Given the description of an element on the screen output the (x, y) to click on. 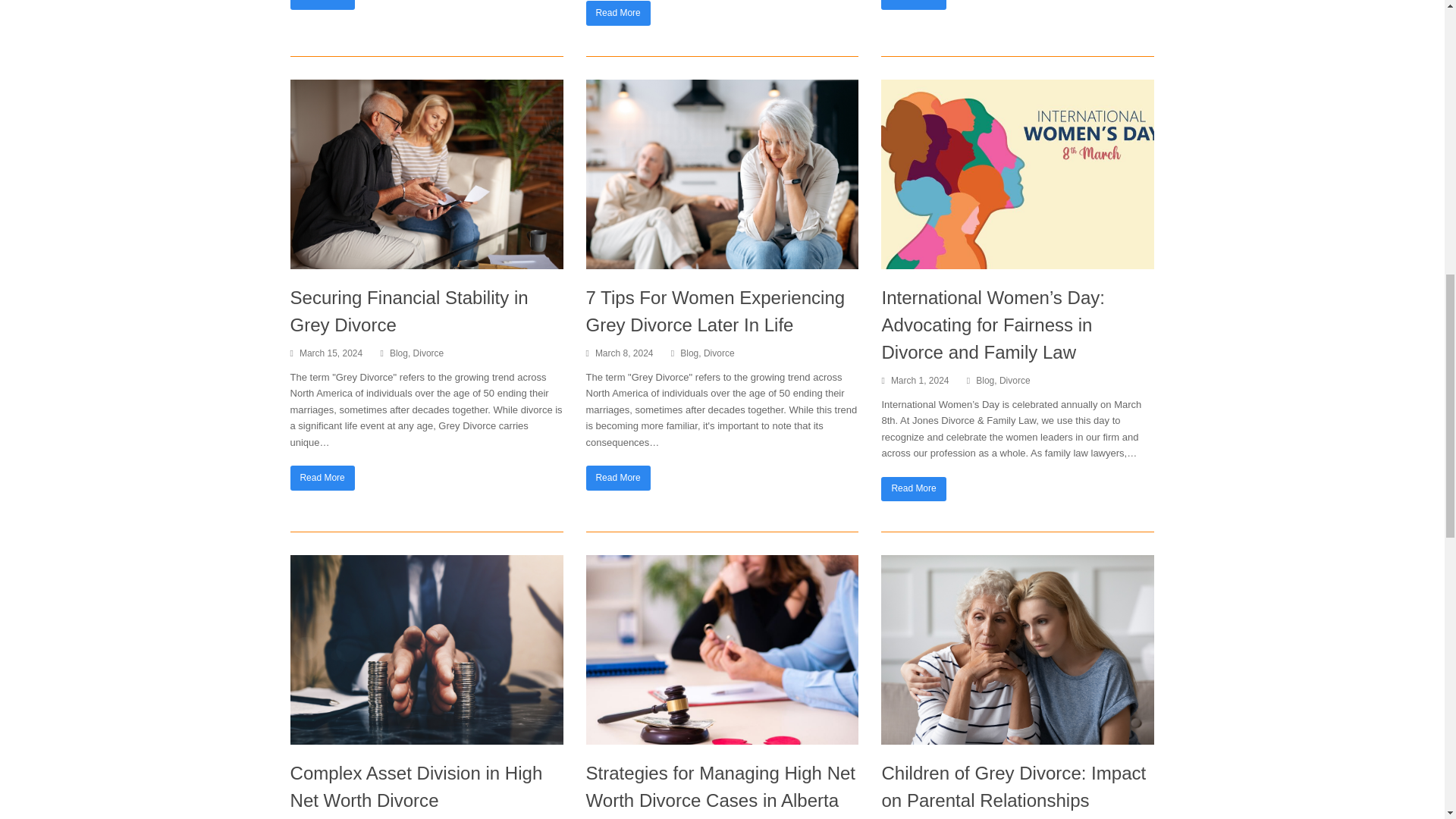
7 Tips For Women Experiencing Grey Divorce Later In Life (722, 260)
Complex Asset Division in High Net Worth Divorce (426, 736)
Securing Financial Stability in Grey Divorce (426, 260)
